Given the description of an element on the screen output the (x, y) to click on. 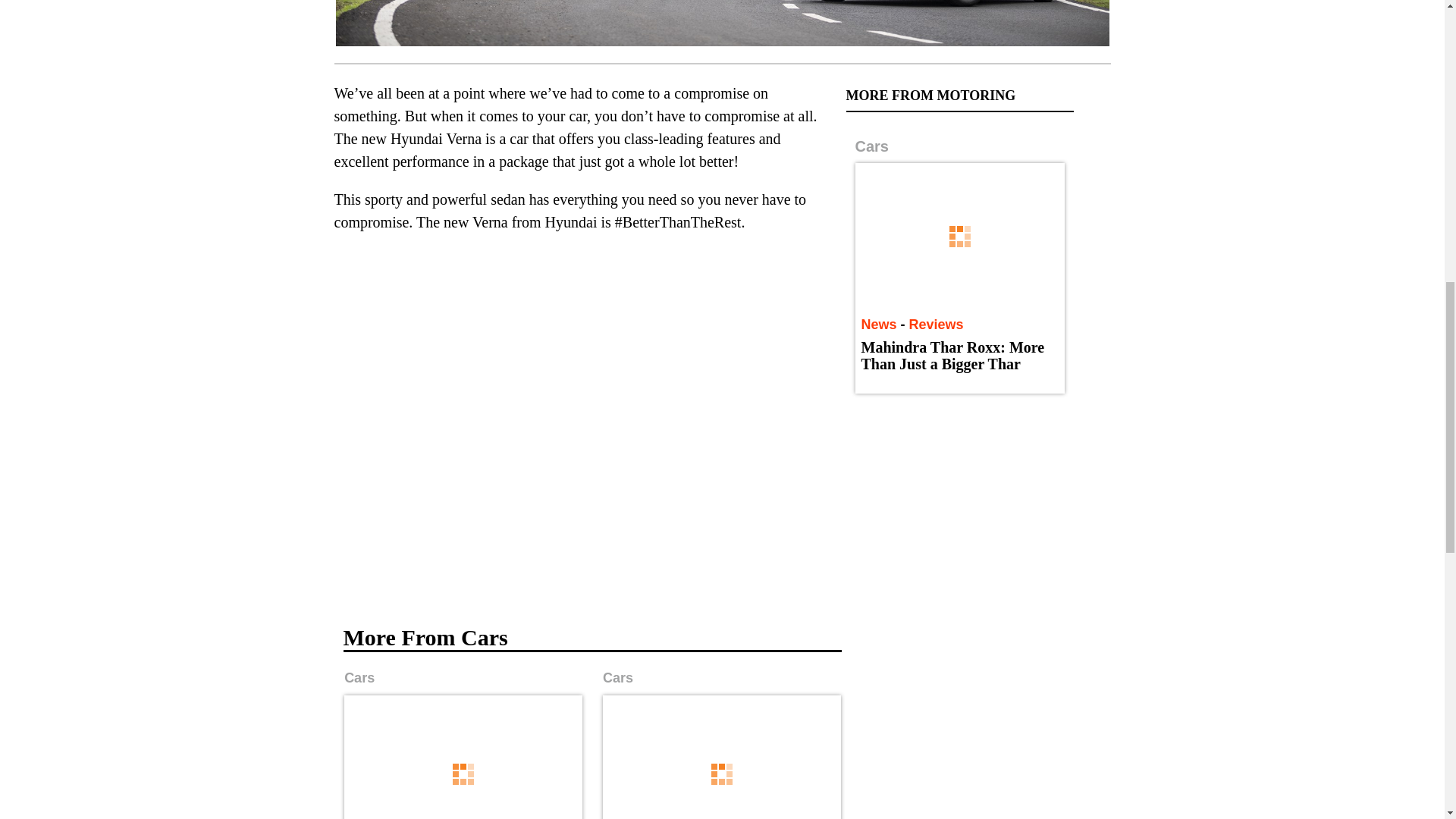
Cars (872, 146)
Mahindra Thar Roxx: More Than Just a Bigger Thar (953, 355)
Reviews (935, 324)
News (878, 324)
3rd party ad content (959, 504)
